Given the description of an element on the screen output the (x, y) to click on. 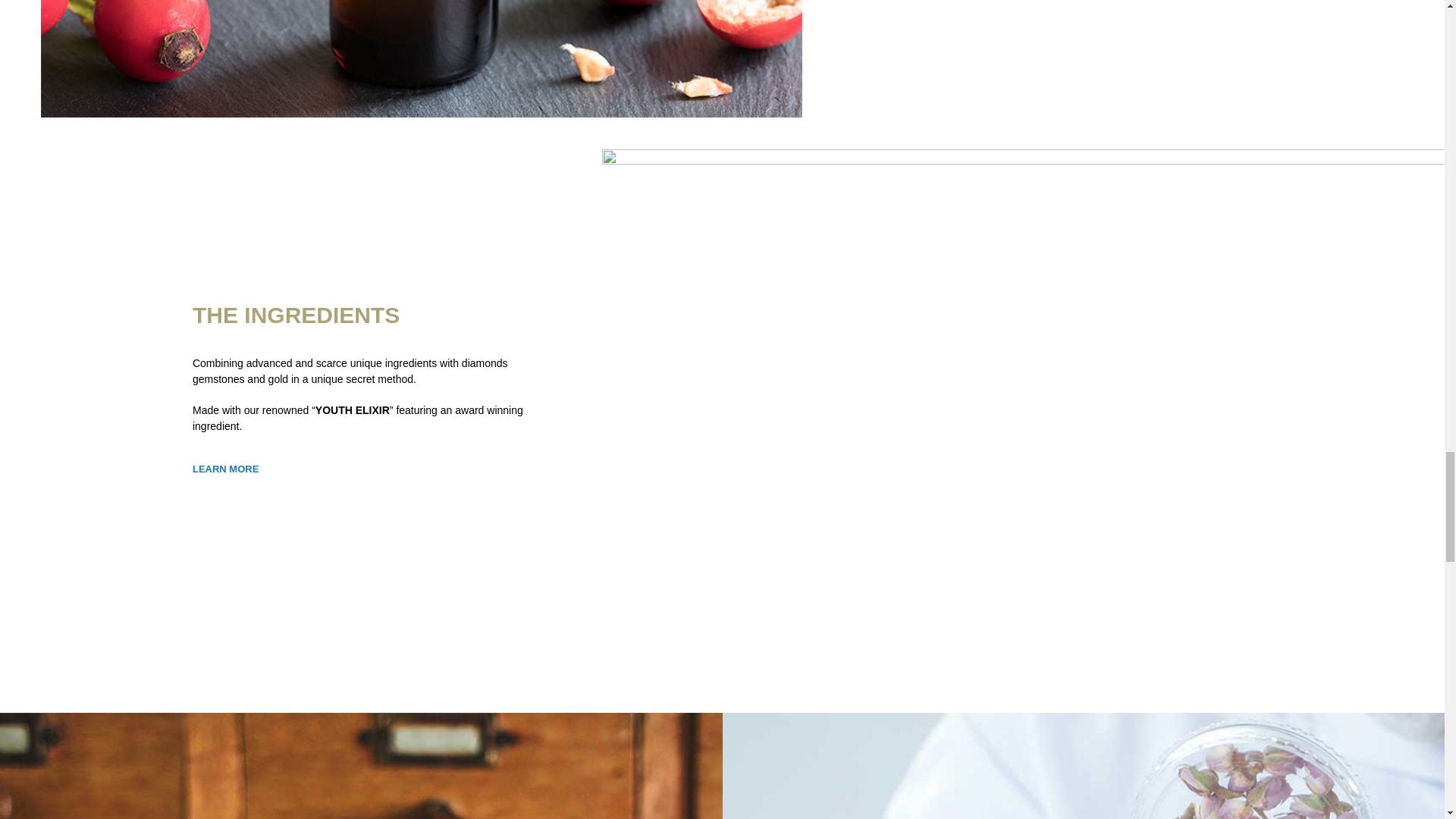
LEARN MORE (225, 469)
